Given the description of an element on the screen output the (x, y) to click on. 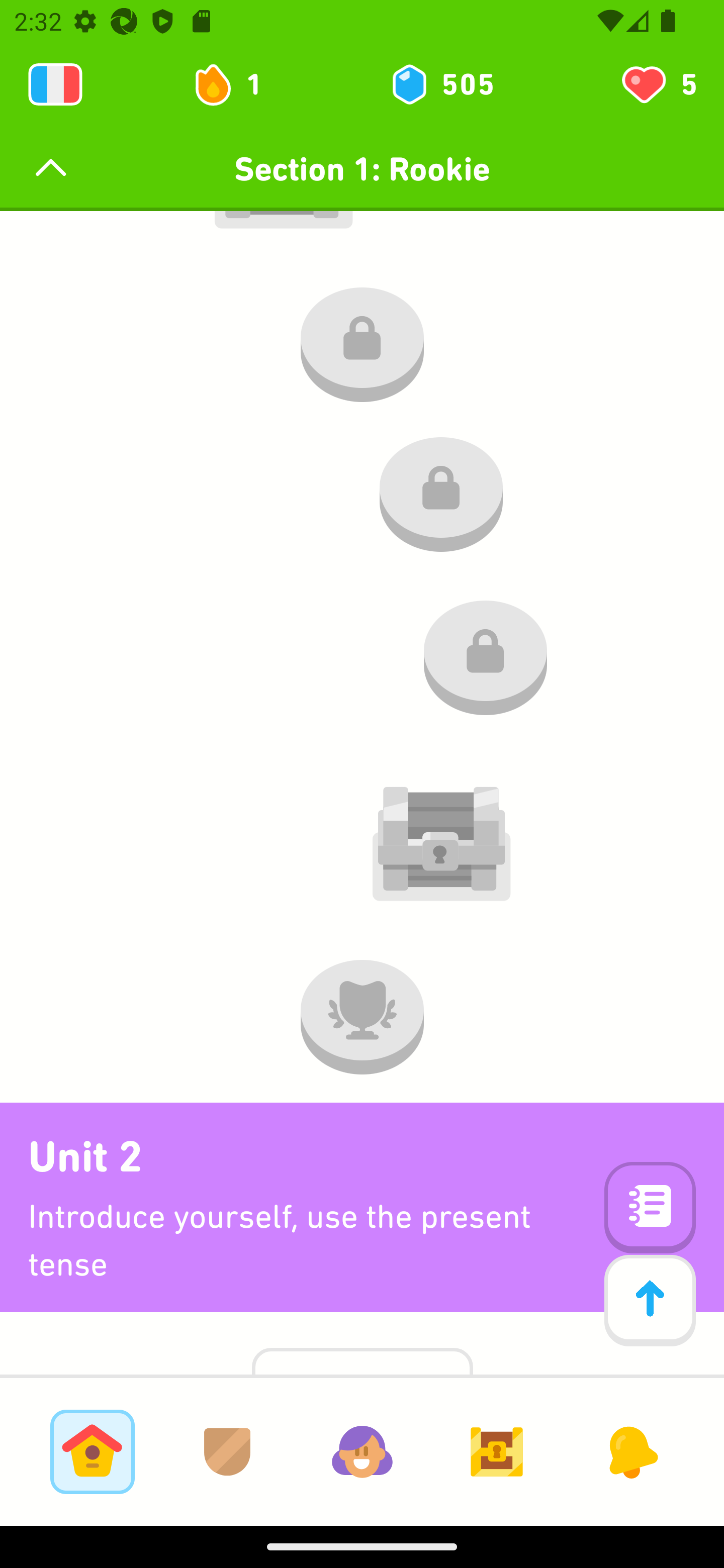
Learning 2131888976 (55, 84)
1 day streak 1 (236, 84)
505 (441, 84)
You have 5 hearts left 5 (657, 84)
Section 1: Rookie (362, 169)
Learn Tab (91, 1451)
Leagues Tab (227, 1451)
Profile Tab (361, 1451)
Goals Tab (496, 1451)
News Tab (631, 1451)
